Given the description of an element on the screen output the (x, y) to click on. 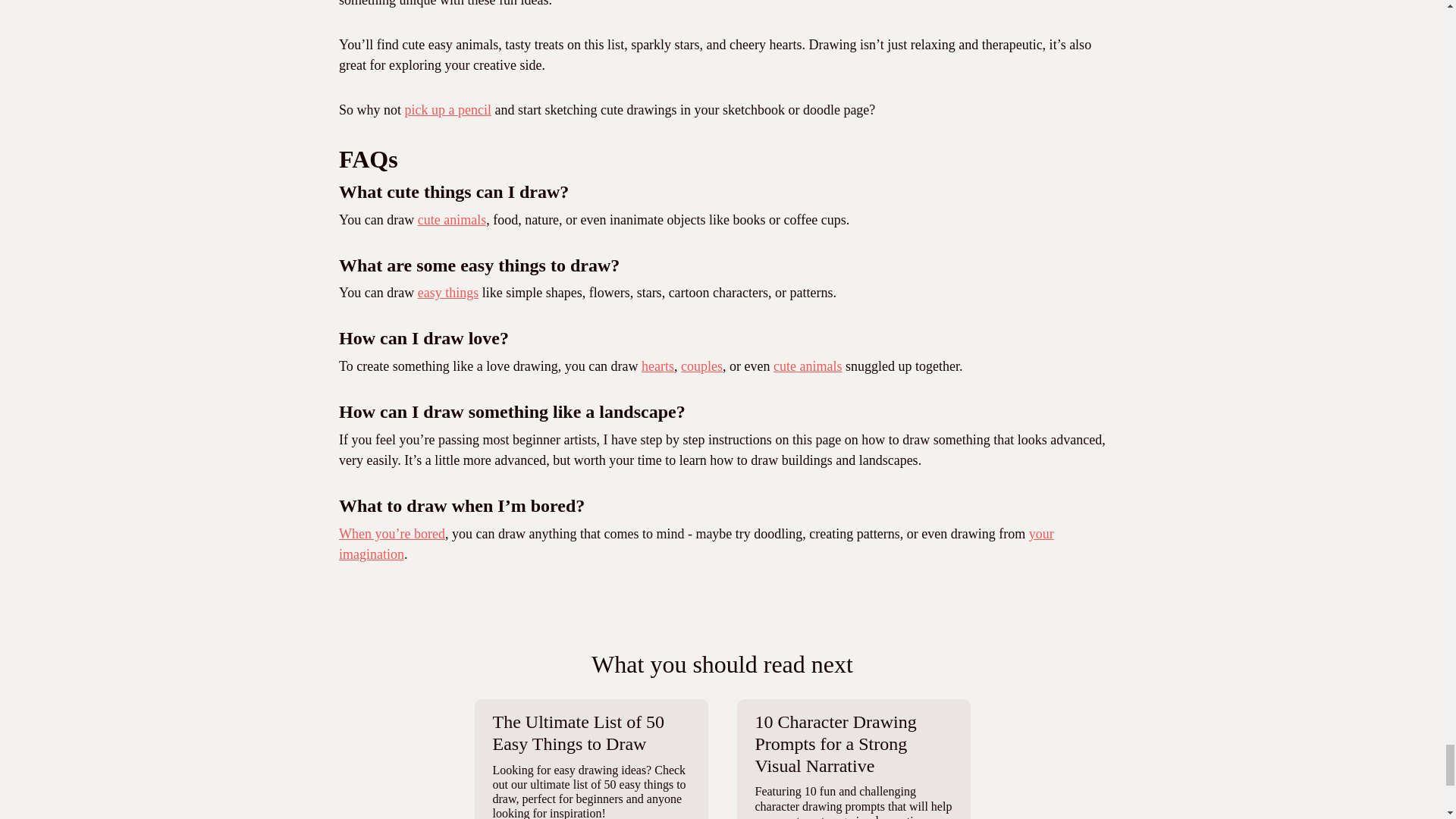
hearts (658, 365)
cute animals (451, 219)
easy things (448, 292)
your imagination (696, 543)
couples (701, 365)
pick up a pencil (448, 109)
cute animals (807, 365)
